Given the description of an element on the screen output the (x, y) to click on. 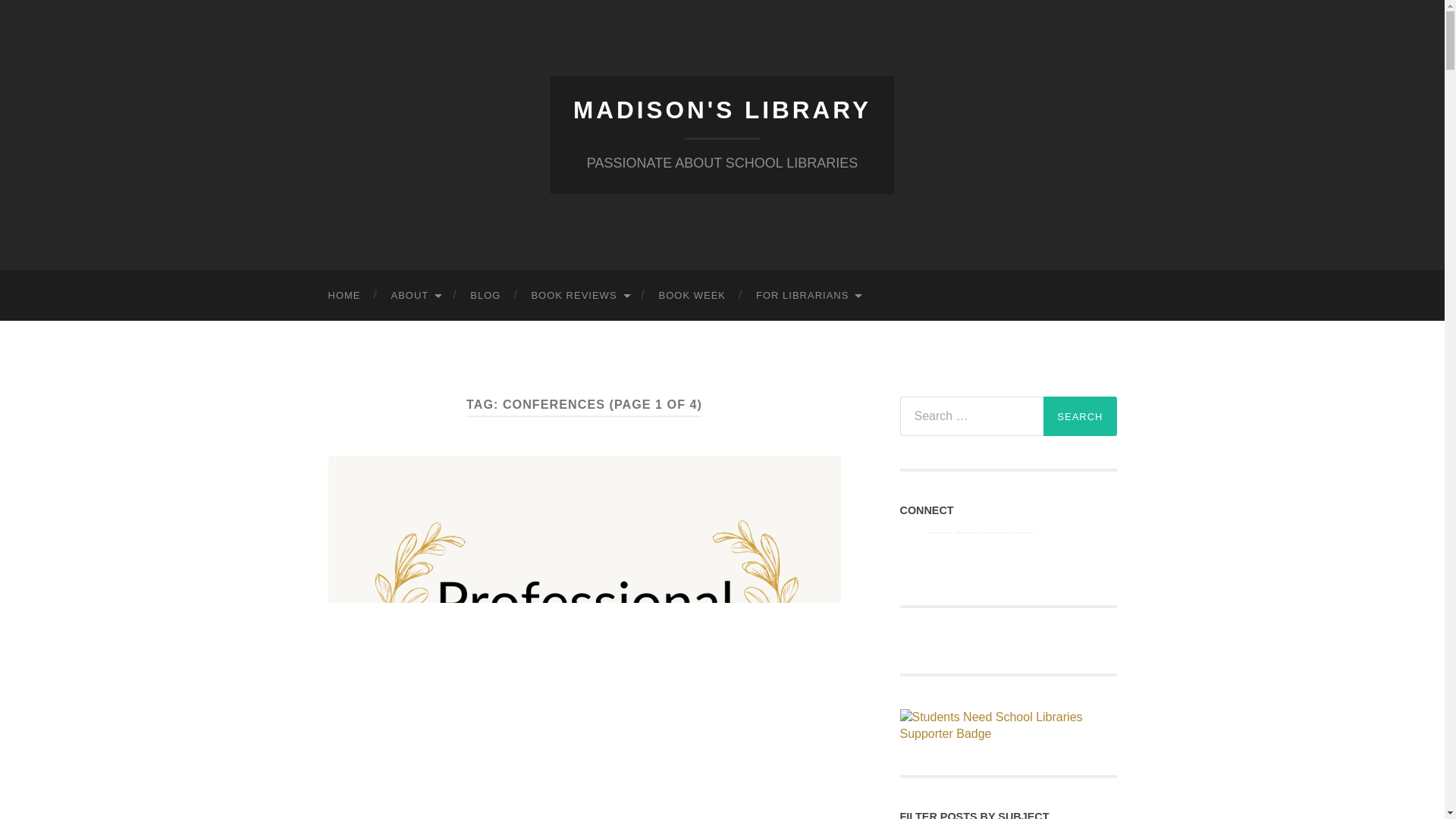
ABOUT (415, 295)
Search (1079, 415)
BOOK REVIEWS (579, 295)
BOOK WEEK (692, 295)
FOR LIBRARIANS (808, 295)
HOME (344, 295)
BLOG (484, 295)
Search (1079, 415)
MADISON'S LIBRARY (721, 109)
